Given the description of an element on the screen output the (x, y) to click on. 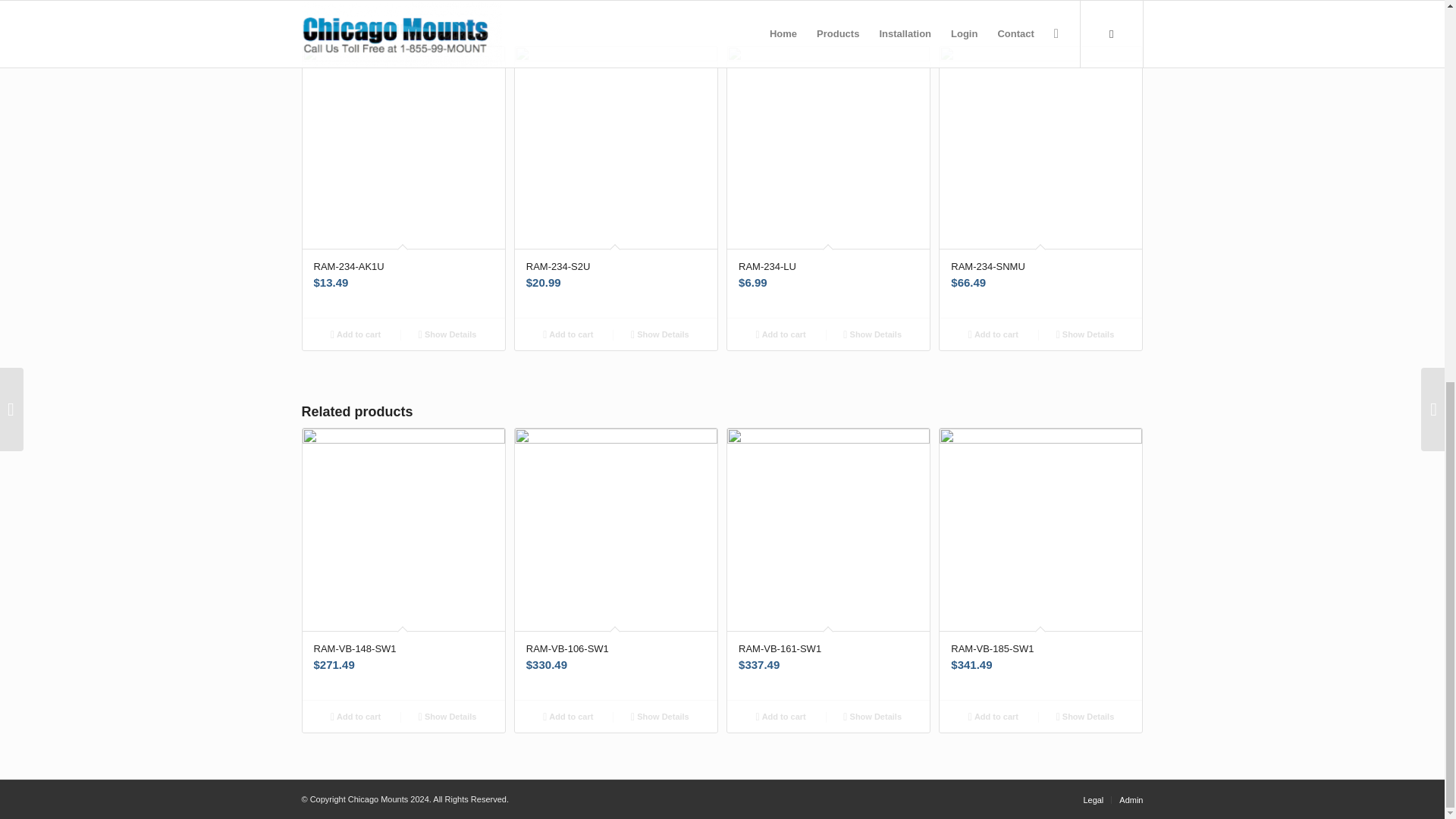
Show Details (447, 334)
Add to cart (568, 334)
Add to cart (354, 334)
Show Details (660, 334)
